Given the description of an element on the screen output the (x, y) to click on. 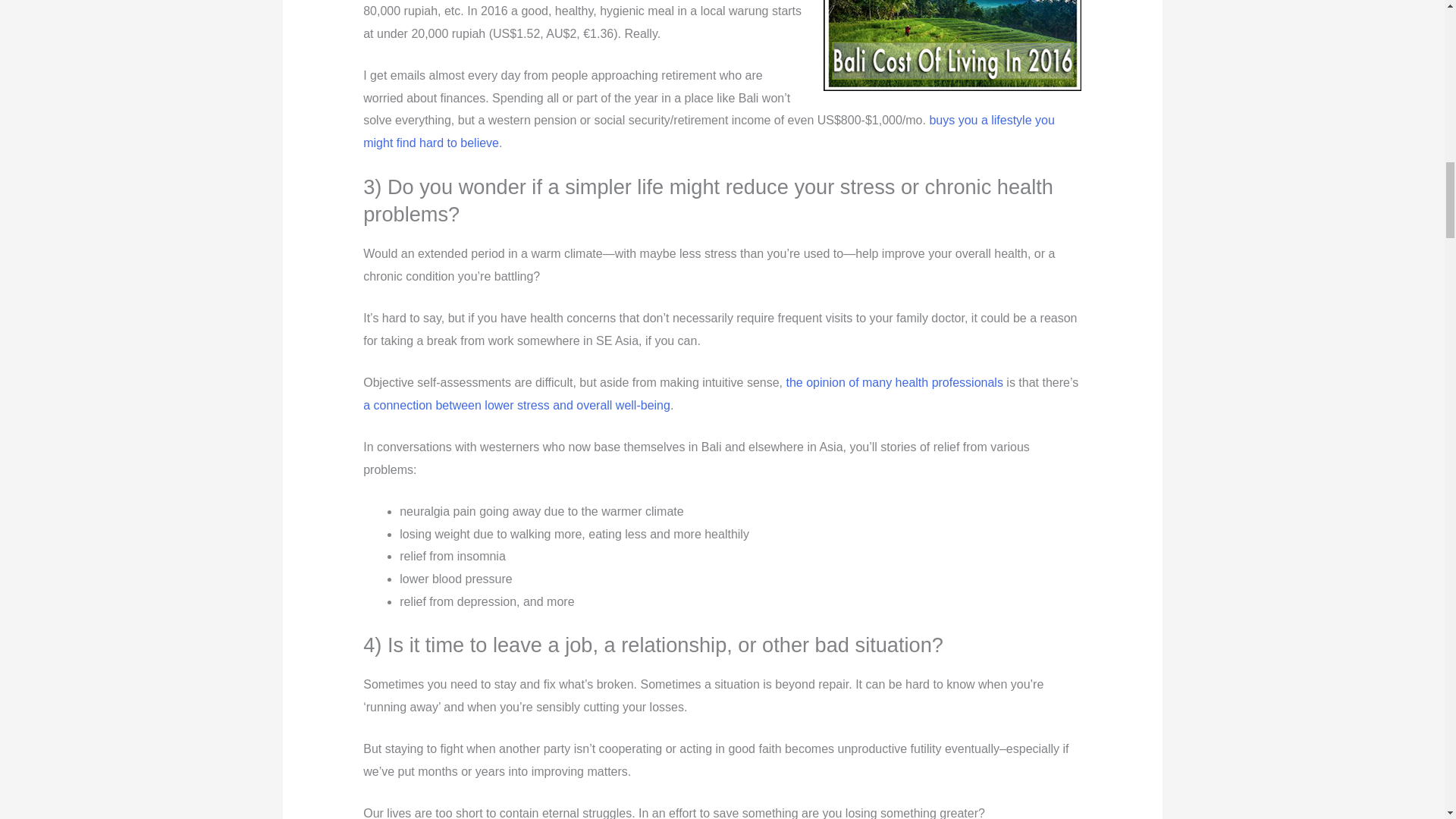
the opinion of many health professionals (894, 382)
buys you a lifestyle you might find hard to believe (708, 131)
a connection between lower stress and overall well-being (515, 404)
